Given the description of an element on the screen output the (x, y) to click on. 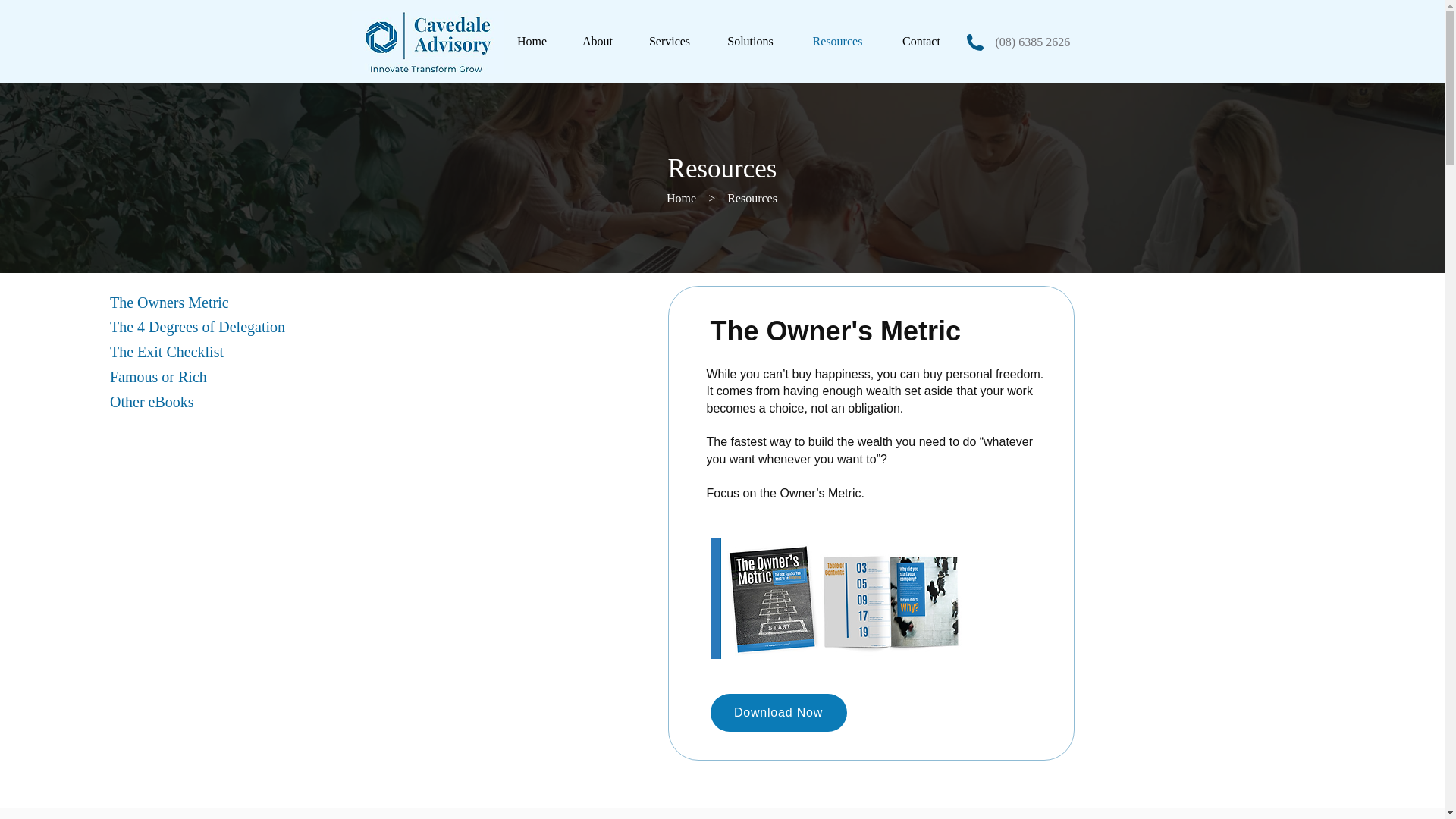
Home (531, 41)
The 4 Degrees of Delegation (154, 326)
Services (669, 41)
Other eBooks (154, 401)
About (597, 41)
Solutions (749, 41)
Homepage (427, 42)
Download Now (777, 712)
The Owners Metric (154, 301)
Home    (686, 197)
